Given the description of an element on the screen output the (x, y) to click on. 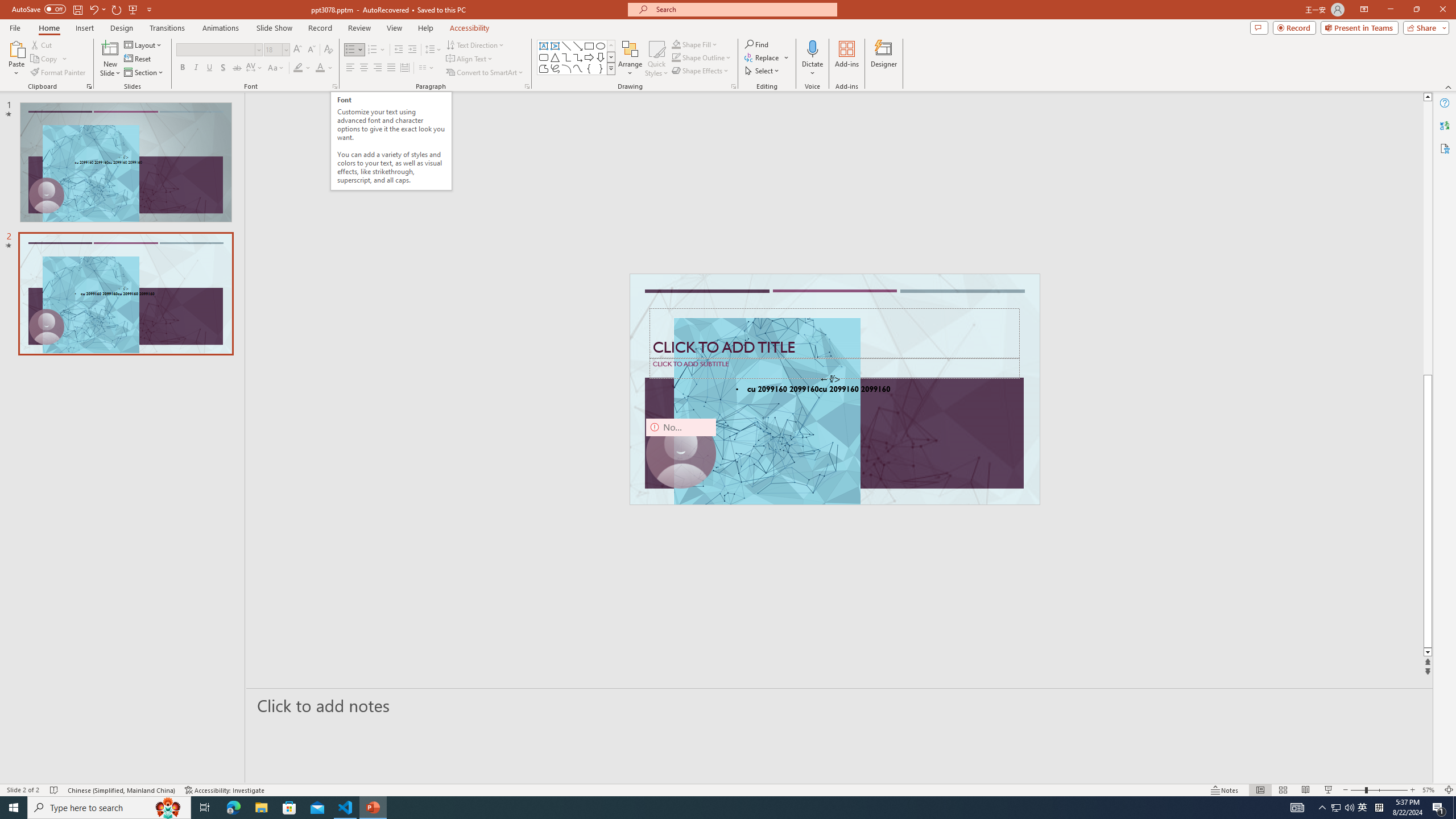
Record (1294, 27)
Normal (1260, 790)
Text Direction (476, 44)
Increase Font Size (297, 49)
Undo (96, 9)
Font Size (276, 49)
Italic (195, 67)
Slide Notes (839, 705)
Zoom 57% (1430, 790)
Record (320, 28)
Bold (182, 67)
Page up (1427, 238)
Align Right (377, 67)
Accessibility Checker Accessibility: Investigate (224, 790)
